Given the description of an element on the screen output the (x, y) to click on. 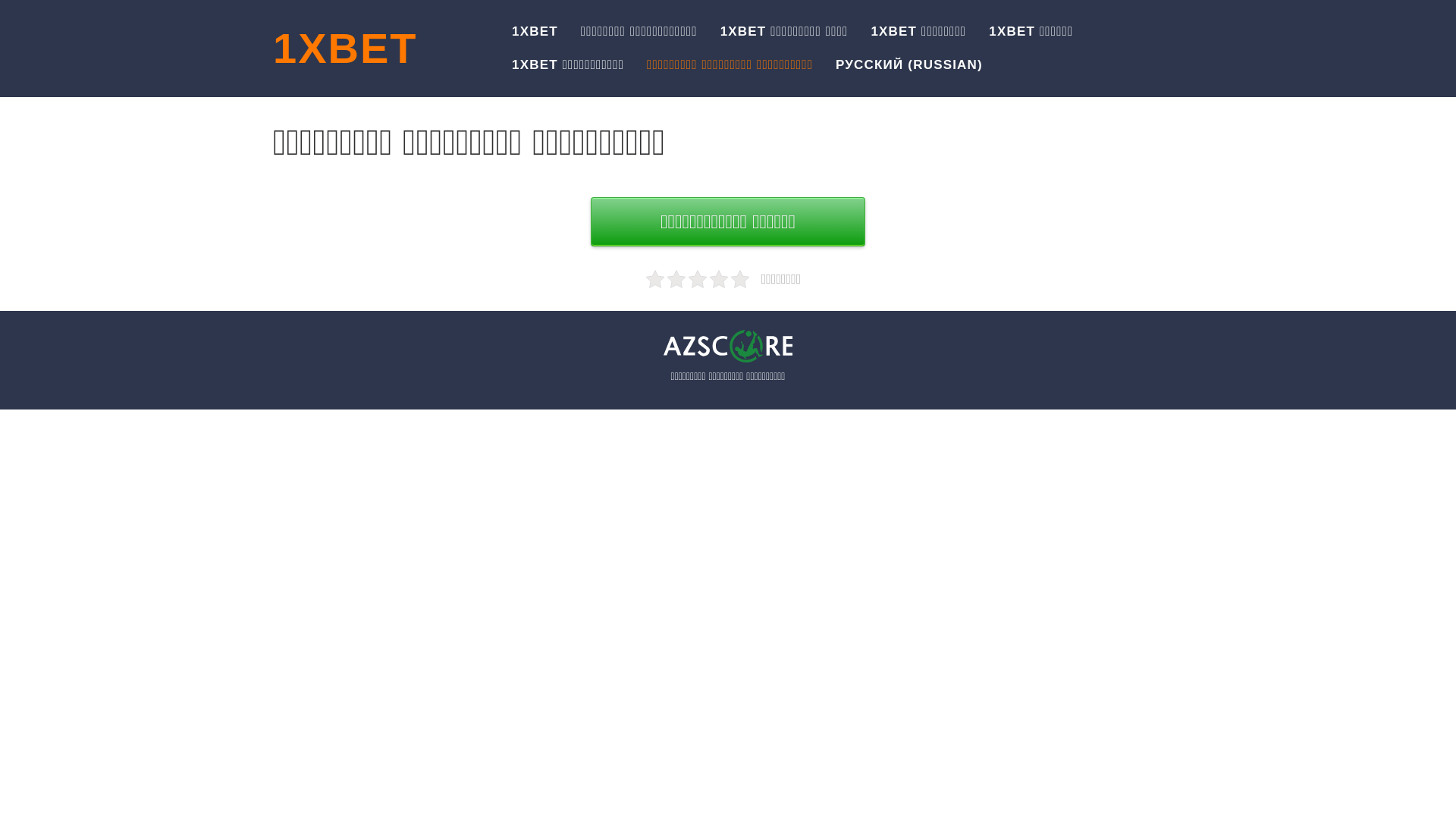
1XBET Element type: text (345, 48)
Skip to content Element type: text (0, 0)
1XBET Element type: text (534, 31)
